Given the description of an element on the screen output the (x, y) to click on. 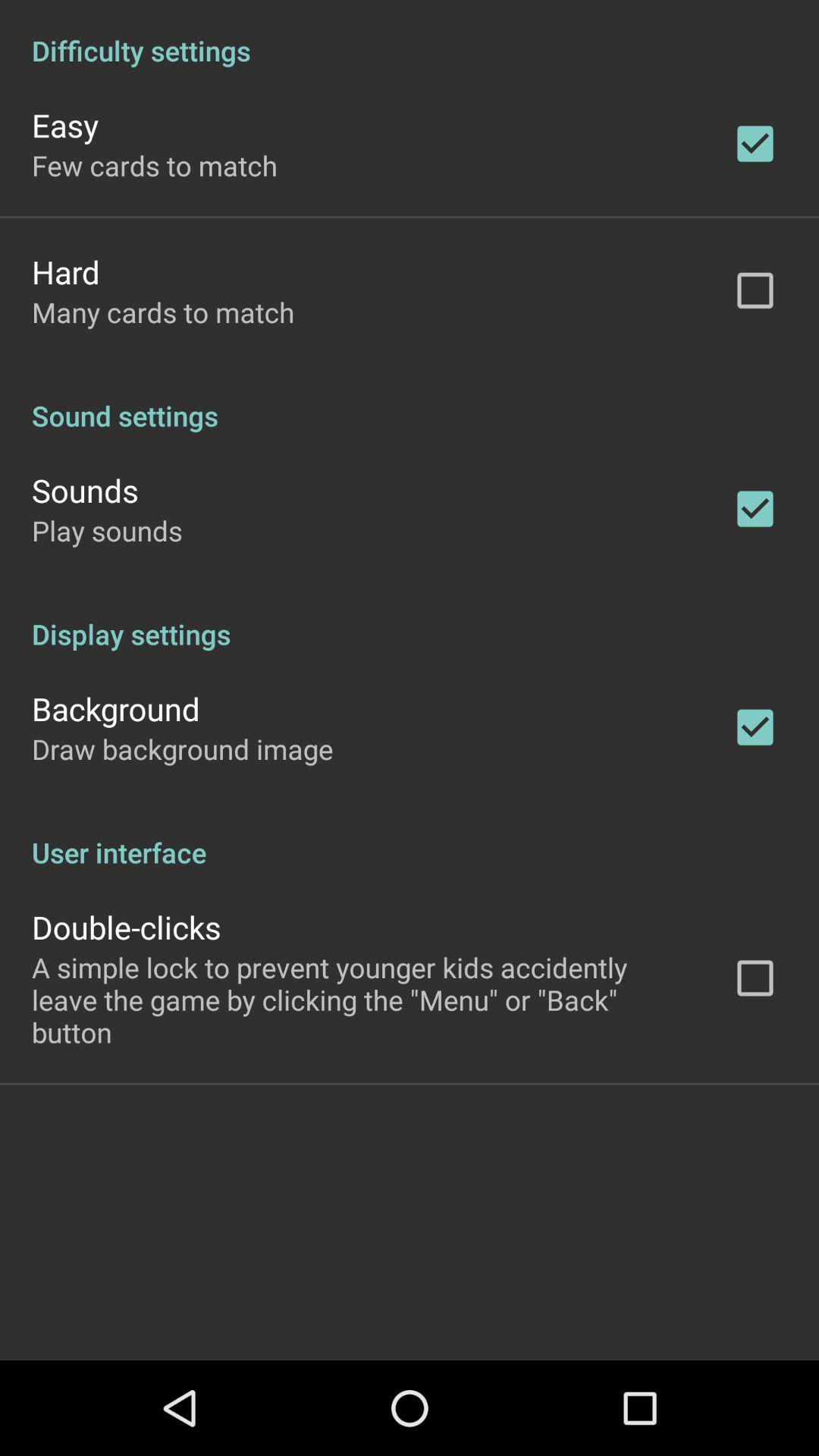
go to right of easy (755, 144)
select the tick mark right to sounds (755, 508)
